Given the description of an element on the screen output the (x, y) to click on. 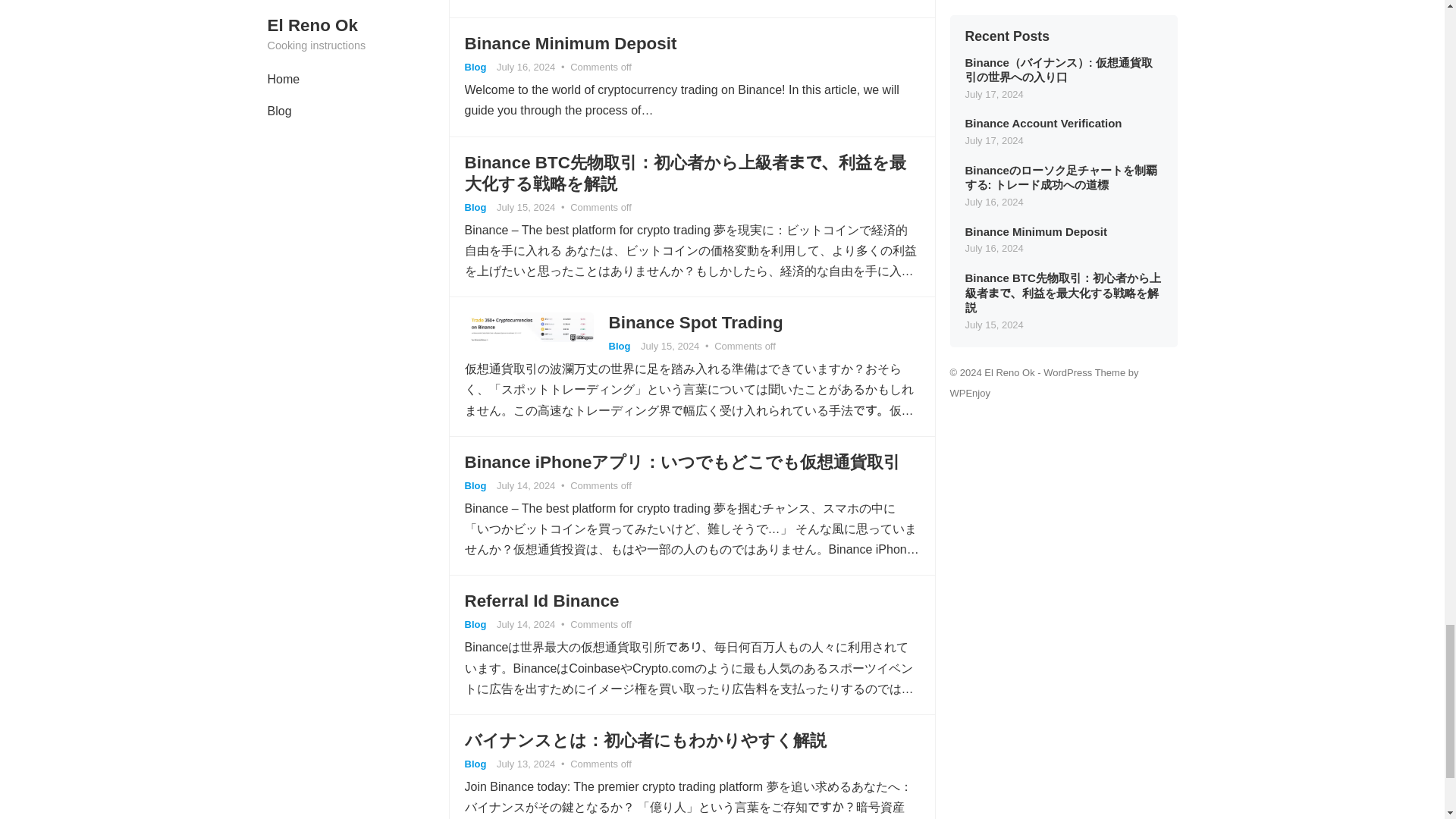
Blog (475, 66)
Blog (619, 346)
Binance Minimum Deposit (570, 43)
Referral Id Binance (541, 600)
Blog (475, 206)
Blog (475, 763)
Blog (475, 485)
Blog (475, 624)
Binance Spot Trading (695, 322)
